Given the description of an element on the screen output the (x, y) to click on. 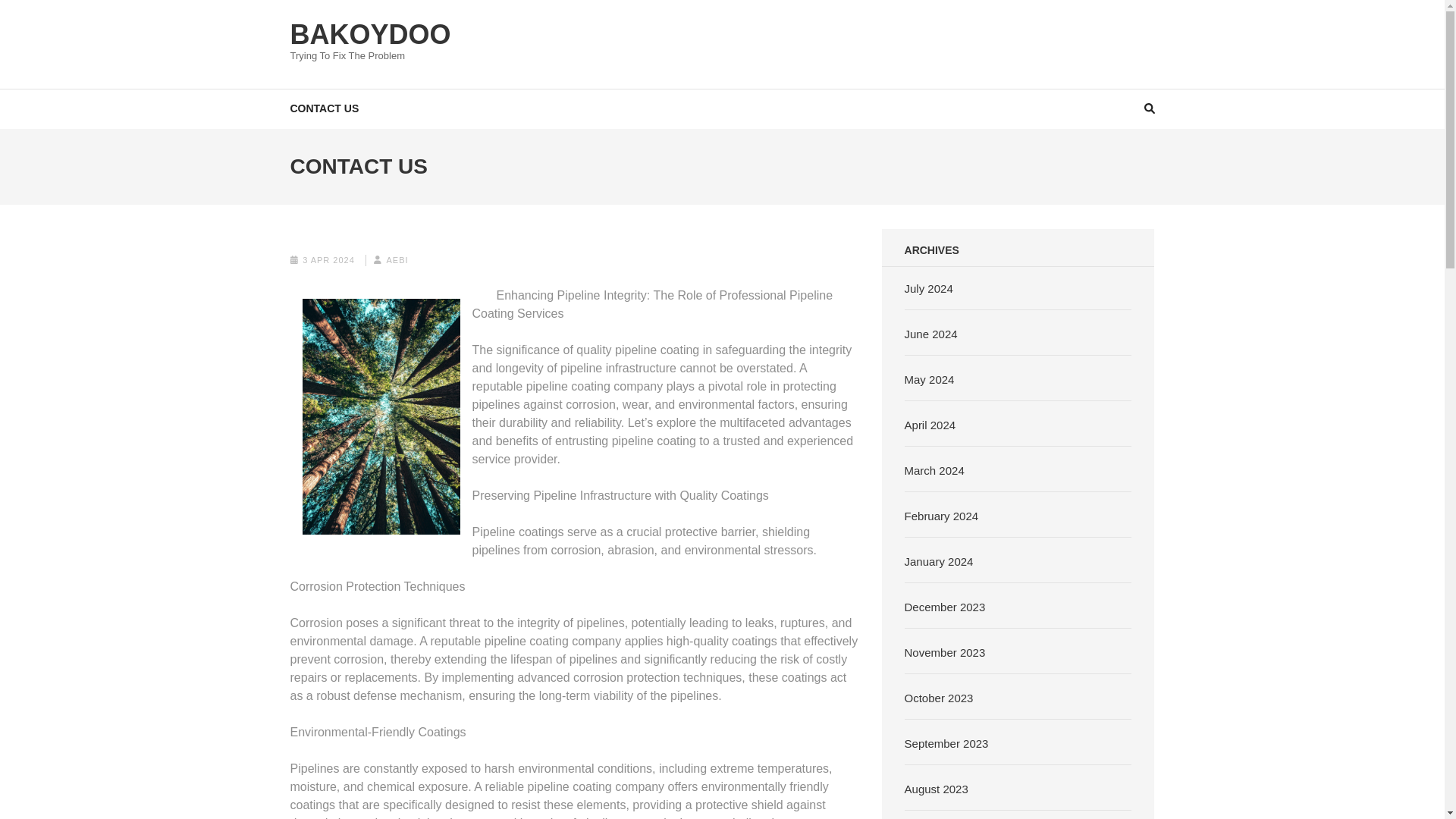
January 2024 (939, 561)
November 2023 (944, 652)
BAKOYDOO (369, 33)
December 2023 (944, 606)
March 2024 (933, 470)
June 2024 (931, 333)
August 2023 (936, 788)
July 2024 (928, 287)
May 2024 (929, 379)
October 2023 (939, 697)
April 2024 (930, 424)
September 2023 (946, 743)
CONTACT US (323, 108)
3 APR 2024 (328, 258)
AEBI (396, 258)
